Given the description of an element on the screen output the (x, y) to click on. 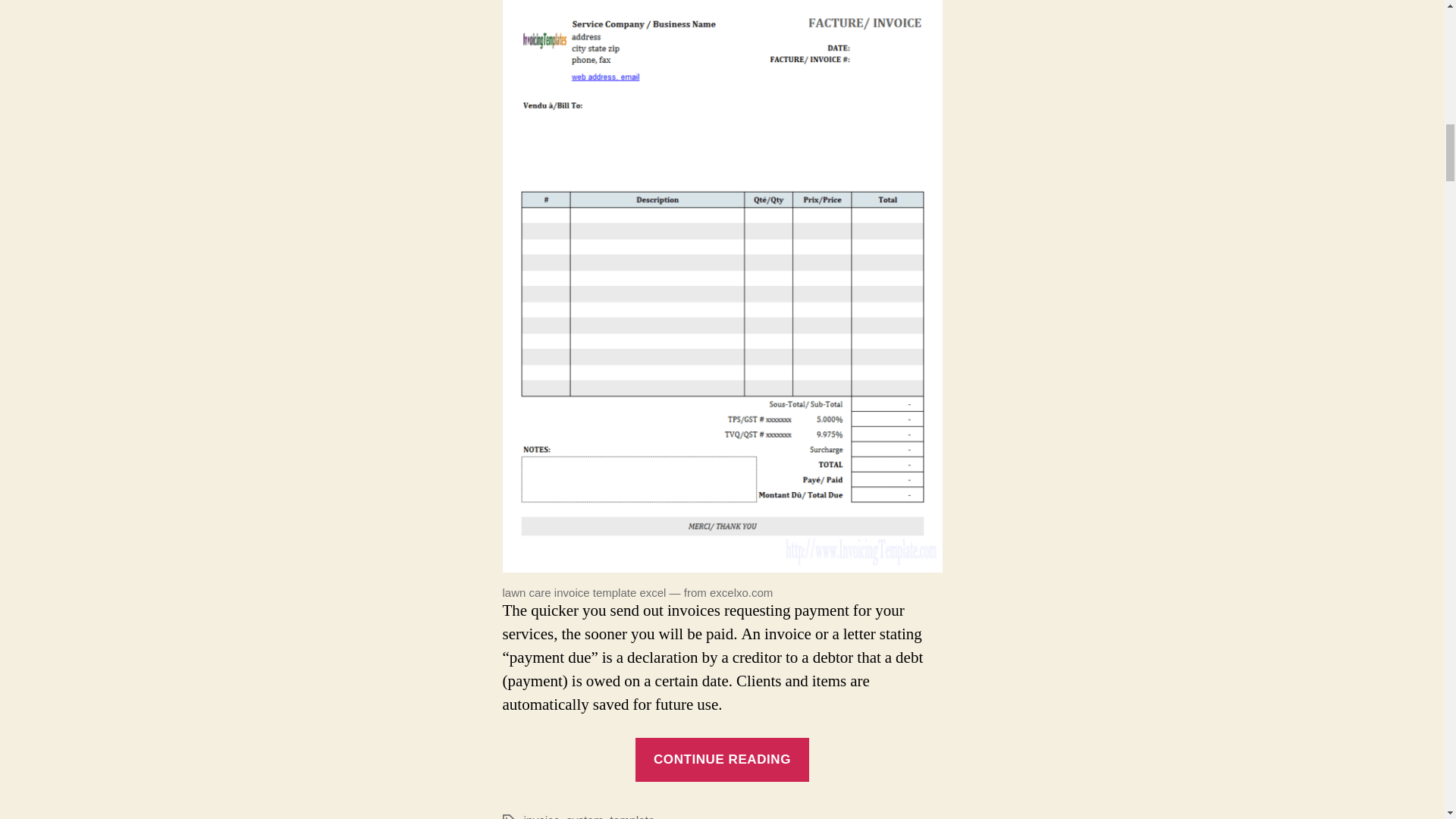
template (631, 816)
invoice (540, 816)
system (585, 816)
